Given the description of an element on the screen output the (x, y) to click on. 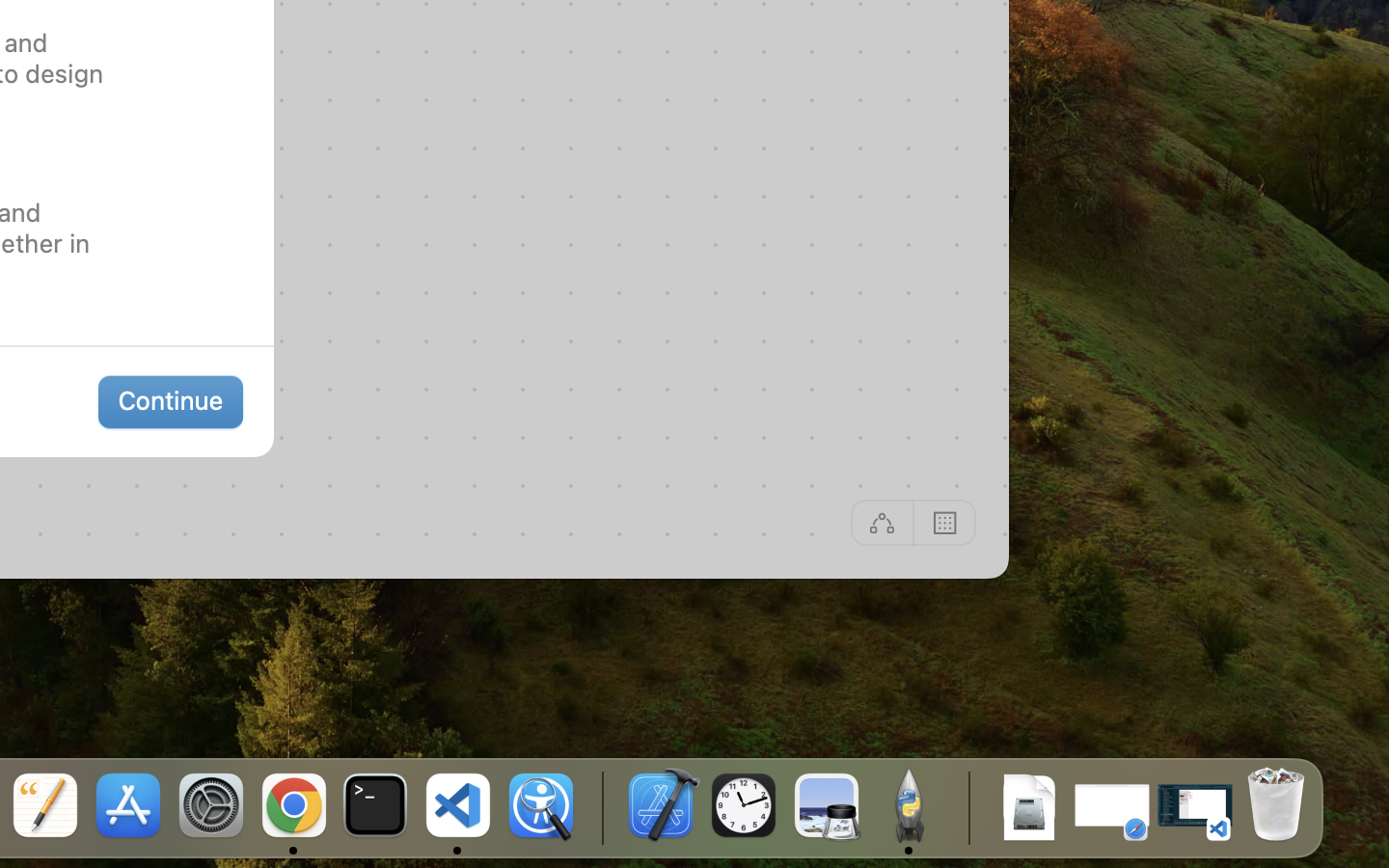
Off Element type: AXButton (881, 522)
On Element type: AXButton (945, 521)
